Given the description of an element on the screen output the (x, y) to click on. 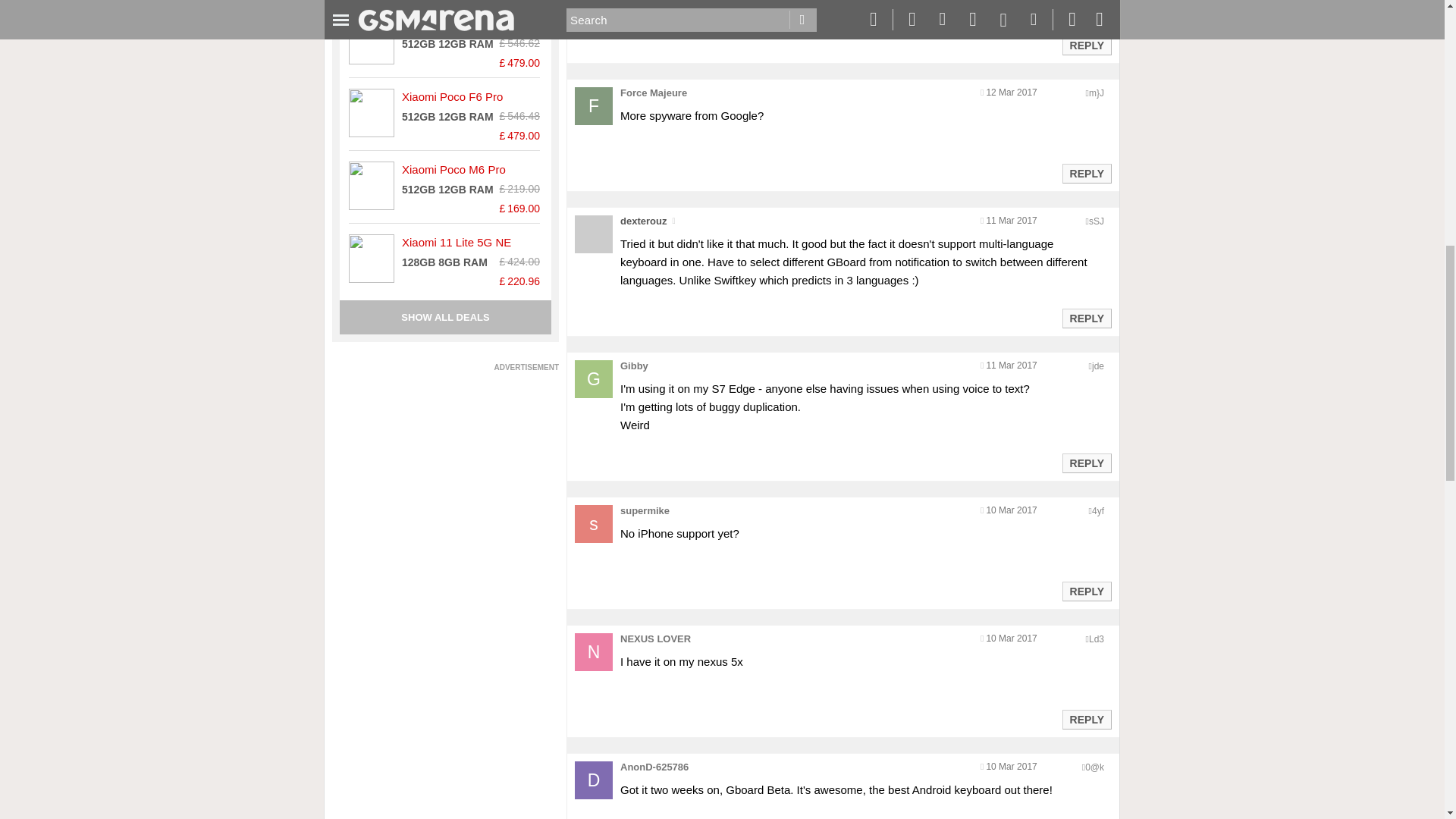
Reply to this post (1086, 463)
Reply to this post (1086, 173)
Encoded anonymized location (1097, 511)
dexterouz (643, 220)
Reply to this post (1086, 318)
Encoded anonymized location (1096, 221)
REPLY (1086, 45)
Reply to this post (1086, 45)
REPLY (1086, 173)
Encoded anonymized location (1097, 366)
Encoded anonymized location (1093, 767)
Encoded anonymized location (1096, 638)
Reply to this post (1086, 591)
Encoded anonymized location (1096, 92)
Reply to this post (1086, 719)
